Given the description of an element on the screen output the (x, y) to click on. 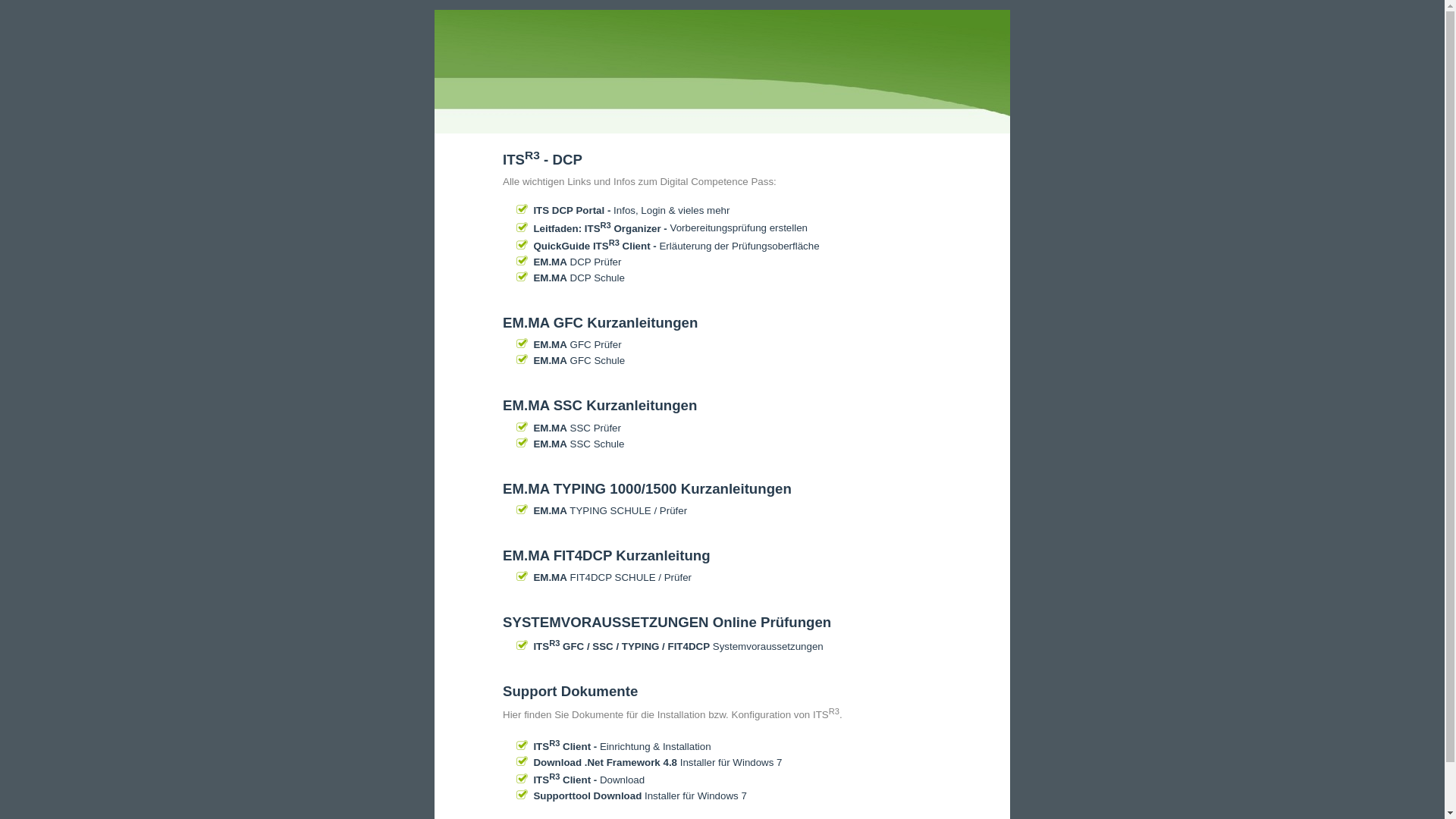
  ITSR3 Client - Einrichtung & Installation Element type: text (619, 746)
  EM.MA DCP Schule Element type: text (575, 277)
  ITSR3 Client - Download Element type: text (585, 779)
  ITSR3 GFC / SSC / TYPING / FIT4DCP Systemvoraussetzungen Element type: text (675, 646)
  EM.MA GFC Schule Element type: text (575, 360)
  EM.MA SSC Schule Element type: text (575, 443)
  ITS DCP Portal - Infos, Login & vieles mehr Element type: text (628, 210)
